Given the description of an element on the screen output the (x, y) to click on. 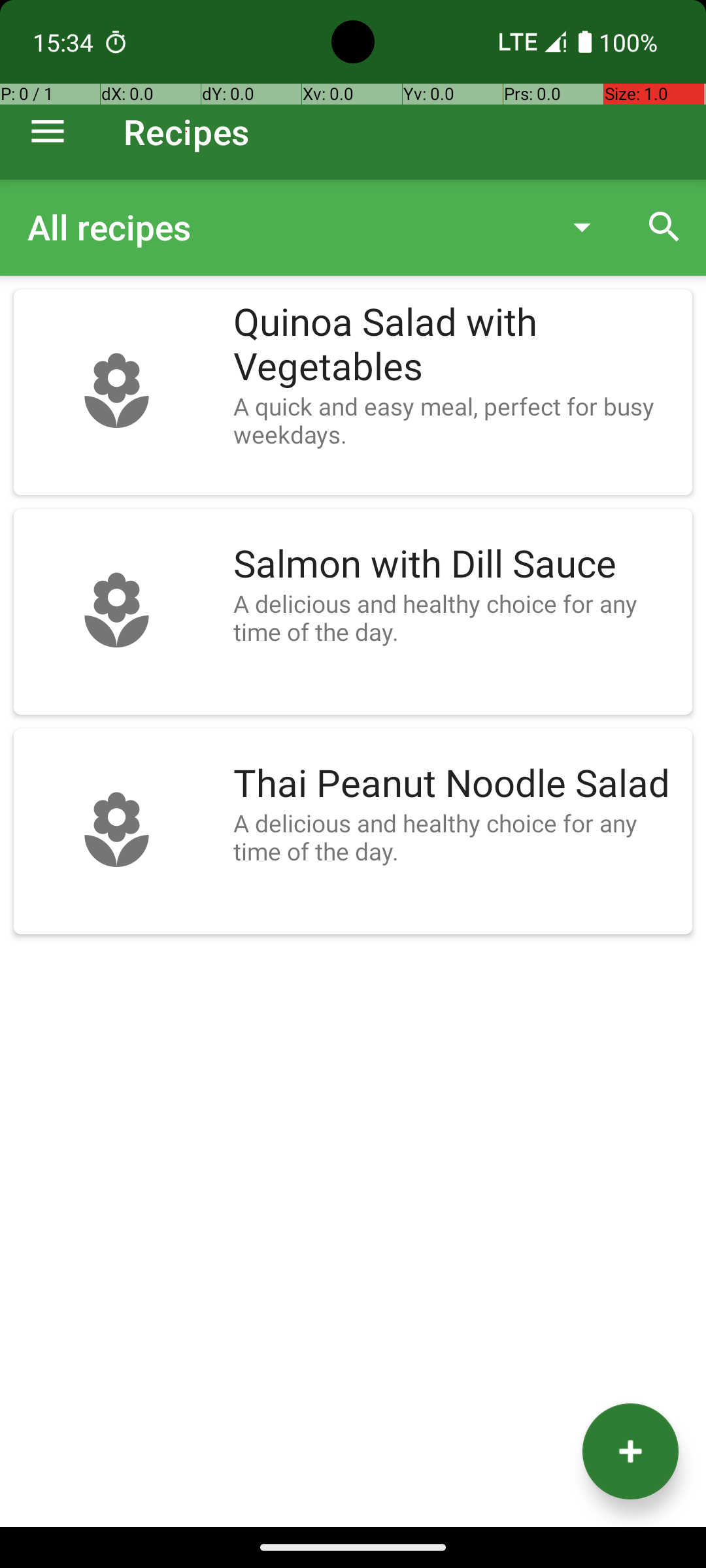
Salmon with Dill Sauce Element type: android.widget.TextView (455, 564)
Thai Peanut Noodle Salad Element type: android.widget.TextView (455, 783)
